Given the description of an element on the screen output the (x, y) to click on. 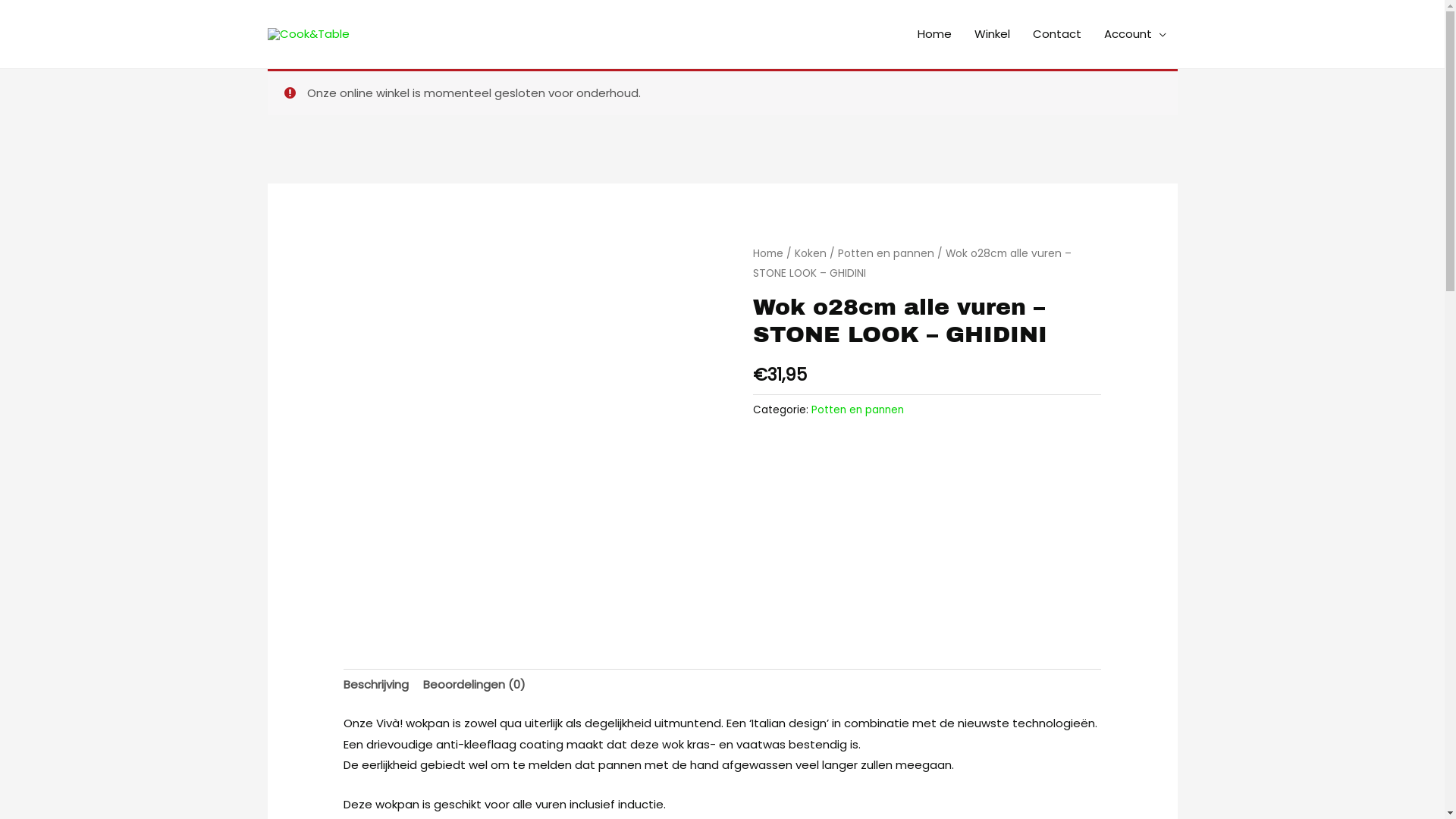
Account Element type: text (1134, 33)
Potten en pannen Element type: text (885, 253)
Koken Element type: text (810, 253)
Winkel Element type: text (992, 33)
Home Element type: text (767, 253)
Beoordelingen (0) Element type: text (474, 684)
Beschrijving Element type: text (375, 684)
Potten en pannen Element type: text (857, 409)
Home Element type: text (933, 33)
Contact Element type: text (1056, 33)
